Given the description of an element on the screen output the (x, y) to click on. 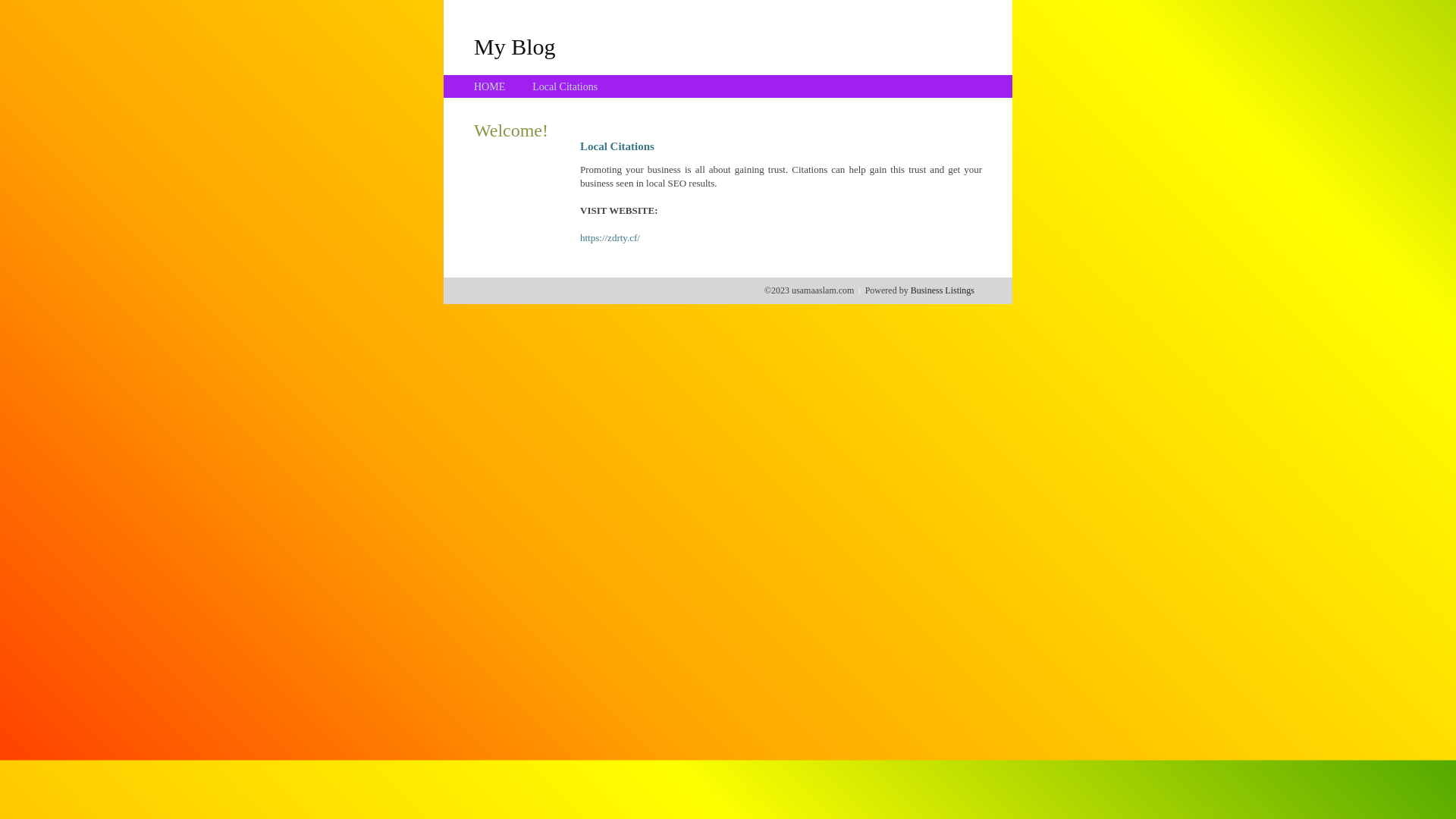
Local Citations Element type: text (564, 86)
Business Listings Element type: text (942, 290)
https://zdrty.cf/ Element type: text (610, 237)
My Blog Element type: text (514, 46)
HOME Element type: text (489, 86)
